Given the description of an element on the screen output the (x, y) to click on. 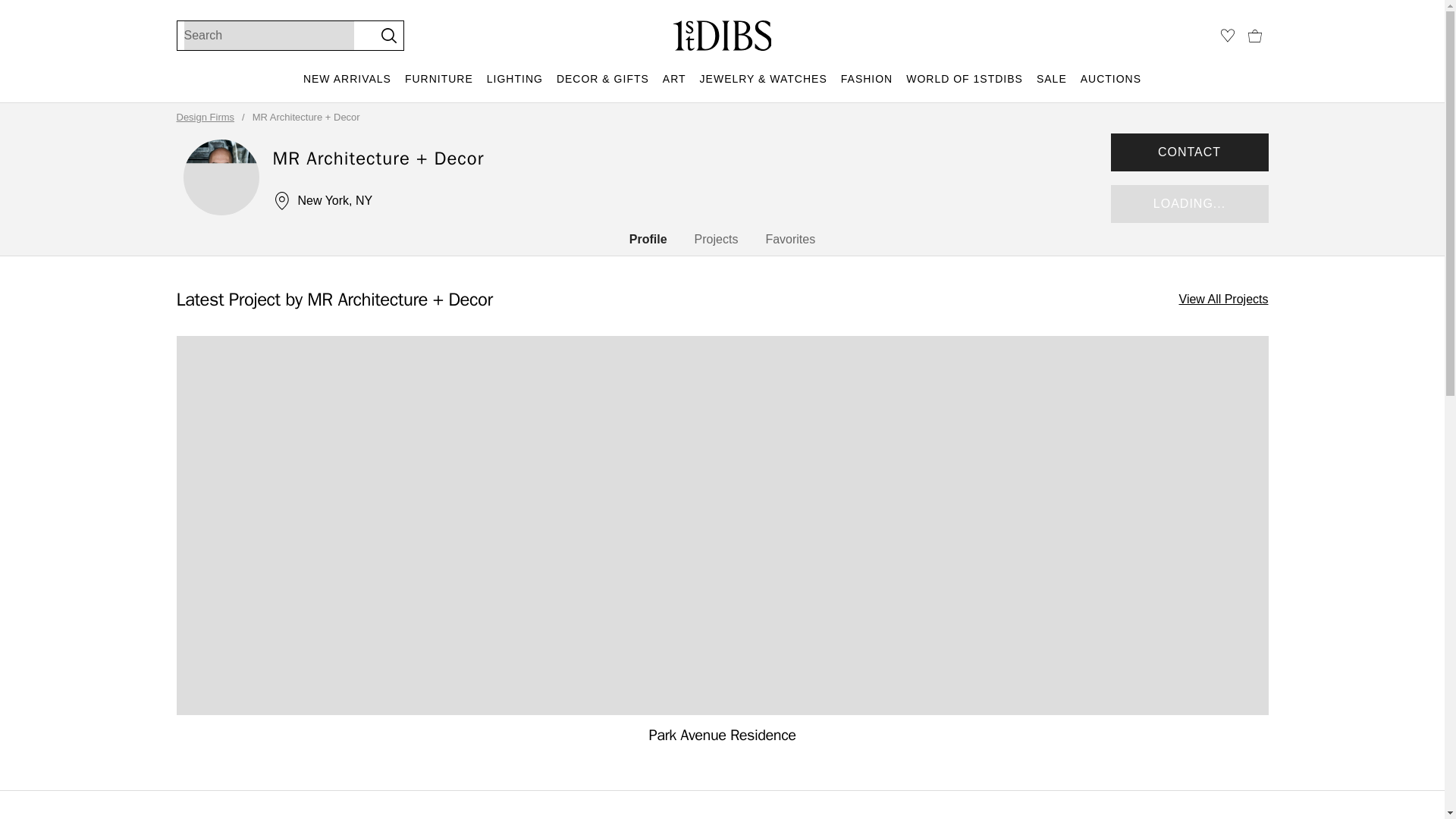
Search (268, 35)
NEW ARRIVALS (346, 86)
FURNITURE (438, 86)
